Given the description of an element on the screen output the (x, y) to click on. 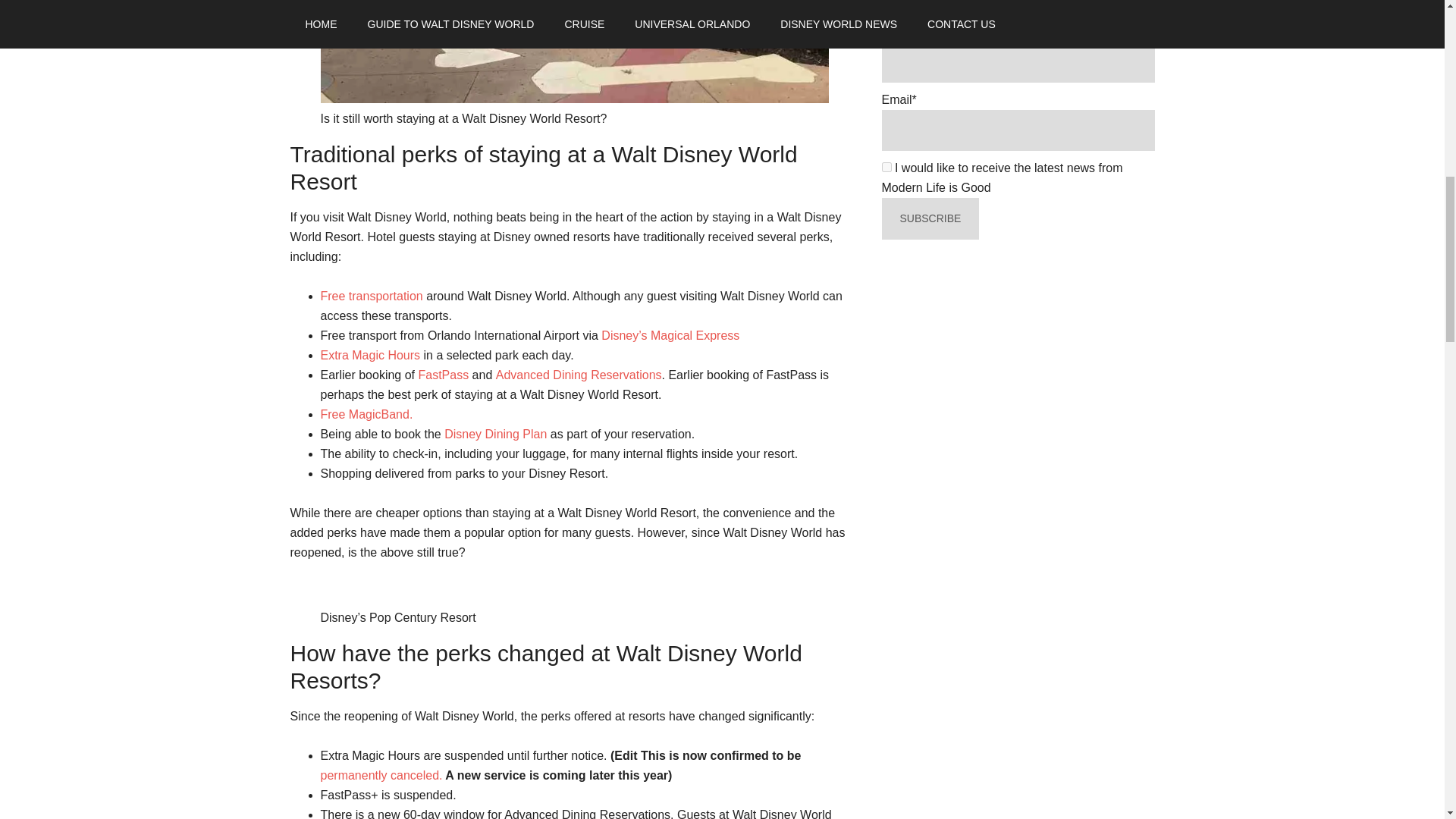
true (885, 166)
Subscribe (929, 218)
